Given the description of an element on the screen output the (x, y) to click on. 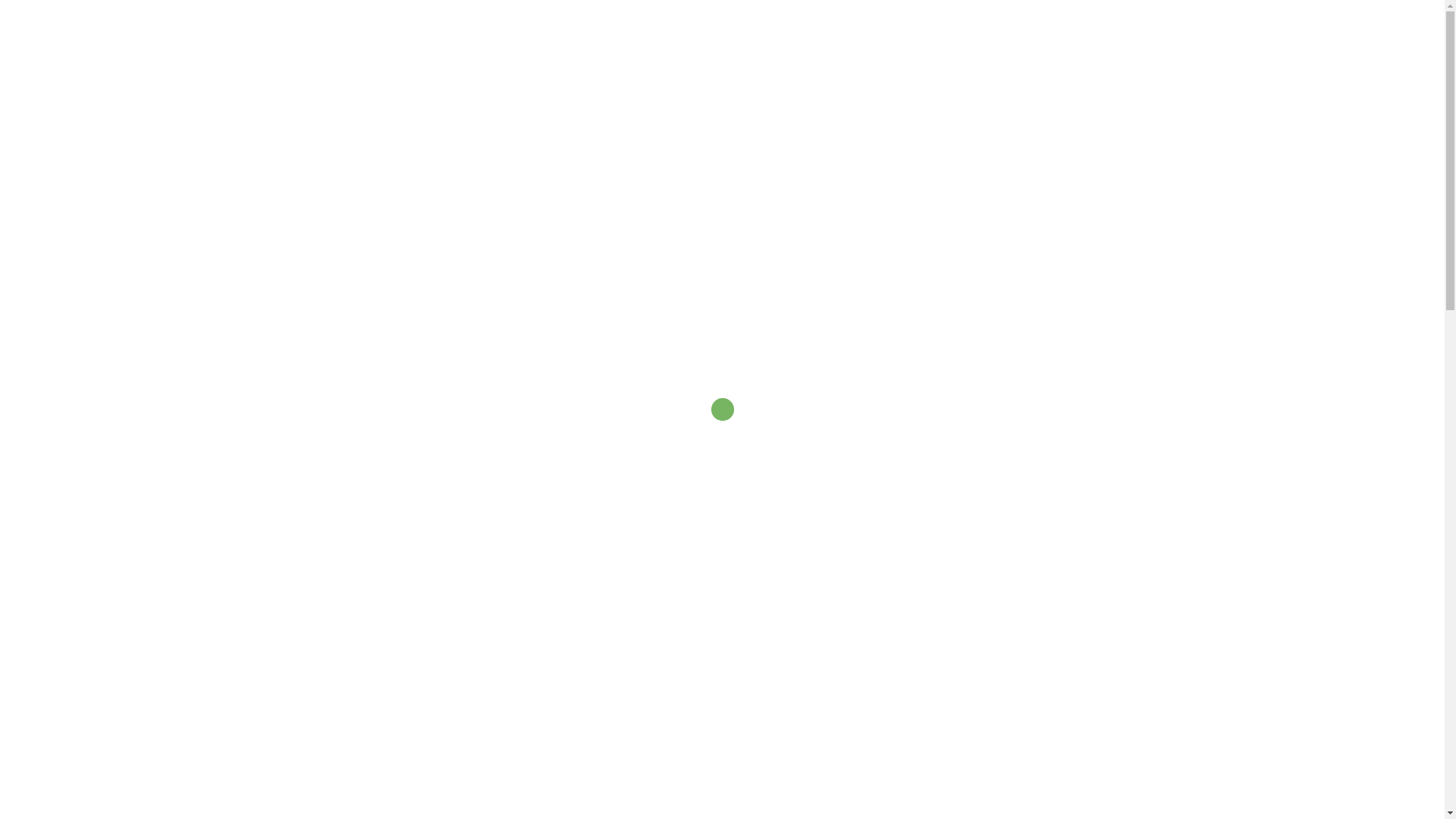
HOME Element type: text (614, 36)
NEWS Element type: text (926, 36)
Baglama d.o.o. Element type: hover (328, 46)
Skip to content Element type: text (0, 0)
PCI DSS Element type: text (389, 789)
ABOUT Element type: text (674, 36)
CONTACT Element type: text (994, 36)
Language switcher Element type: text (650, 57)
SOLUTIONS Element type: text (751, 36)
REFERENCES Element type: text (847, 36)
